Given the description of an element on the screen output the (x, y) to click on. 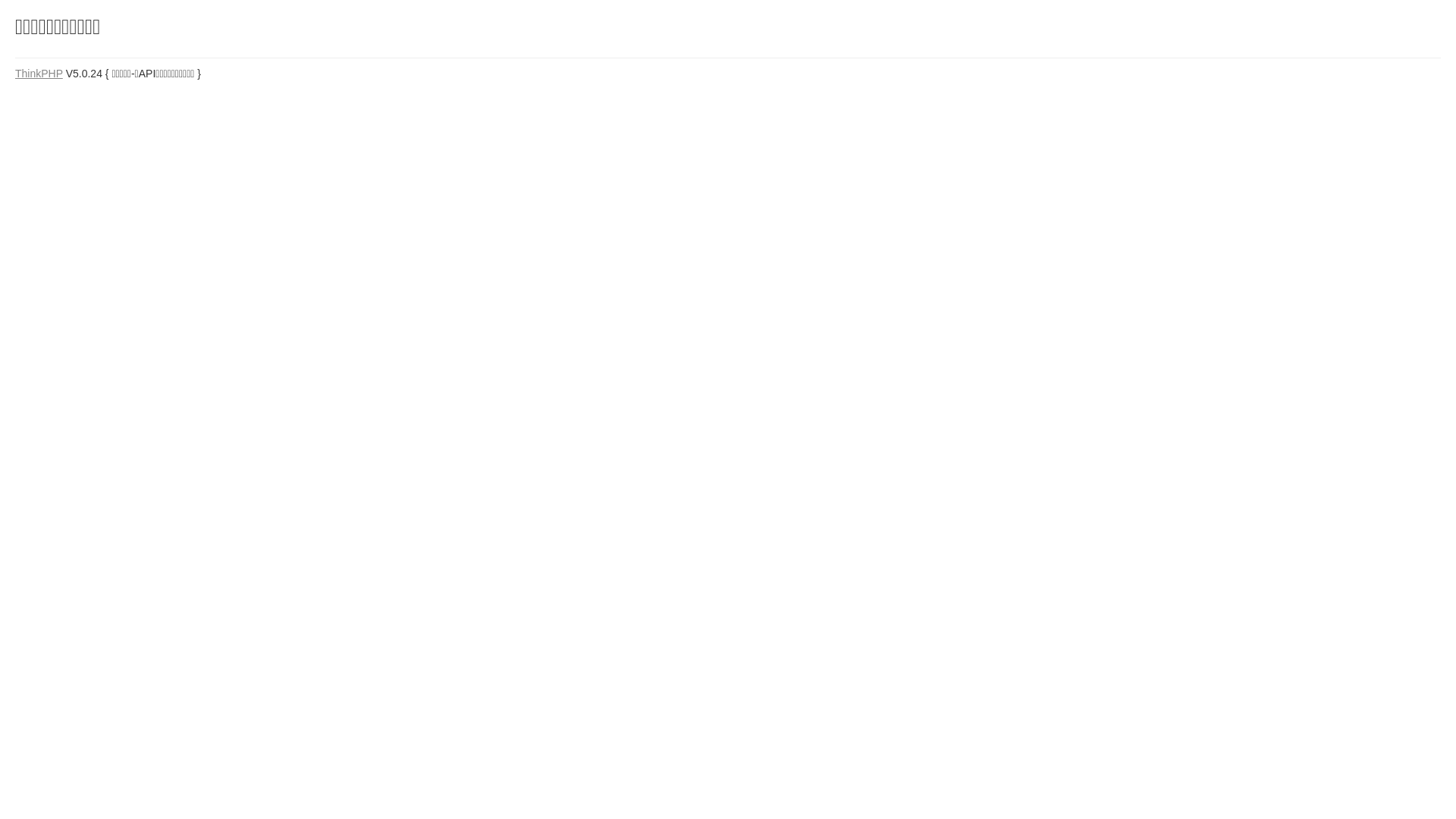
ThinkPHP Element type: text (38, 73)
